Given the description of an element on the screen output the (x, y) to click on. 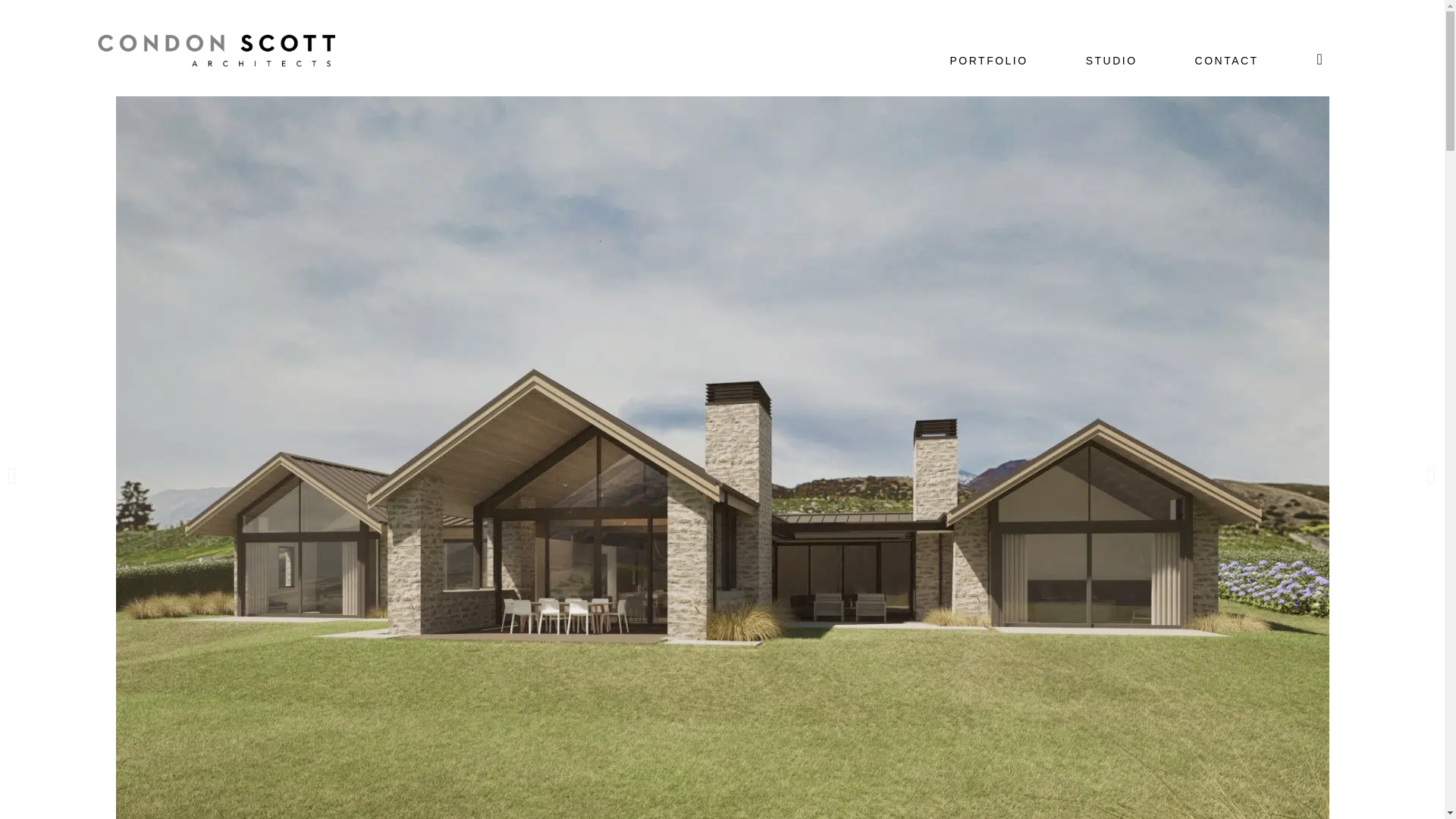
STUDIO (1111, 60)
CONTACT (1226, 60)
PORTFOLIO (988, 60)
